Given the description of an element on the screen output the (x, y) to click on. 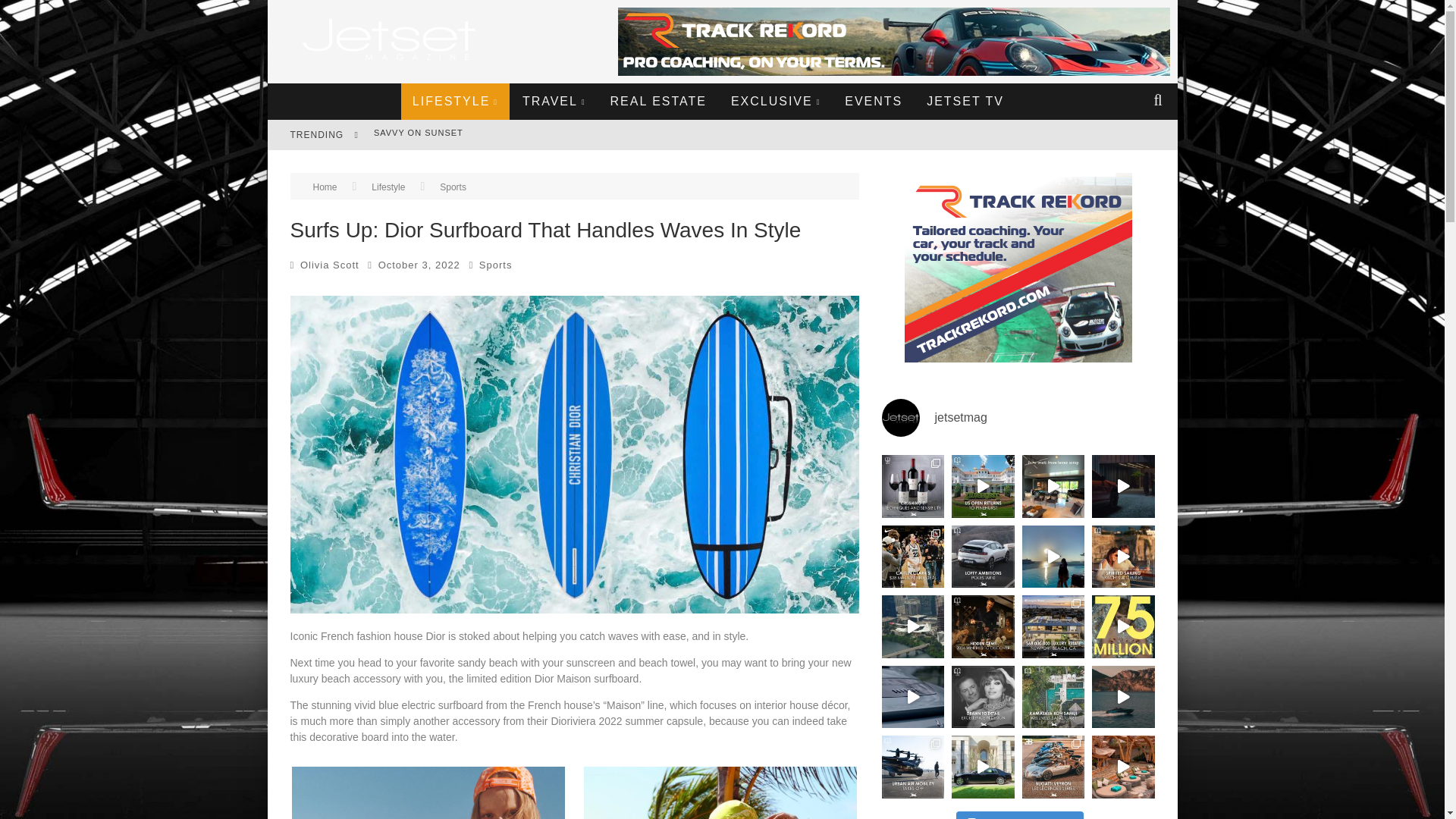
LIFESTYLE (455, 101)
Savvy on Sunset (418, 132)
View all posts in Lifestyle (387, 186)
View all posts in Sports (452, 186)
